Given the description of an element on the screen output the (x, y) to click on. 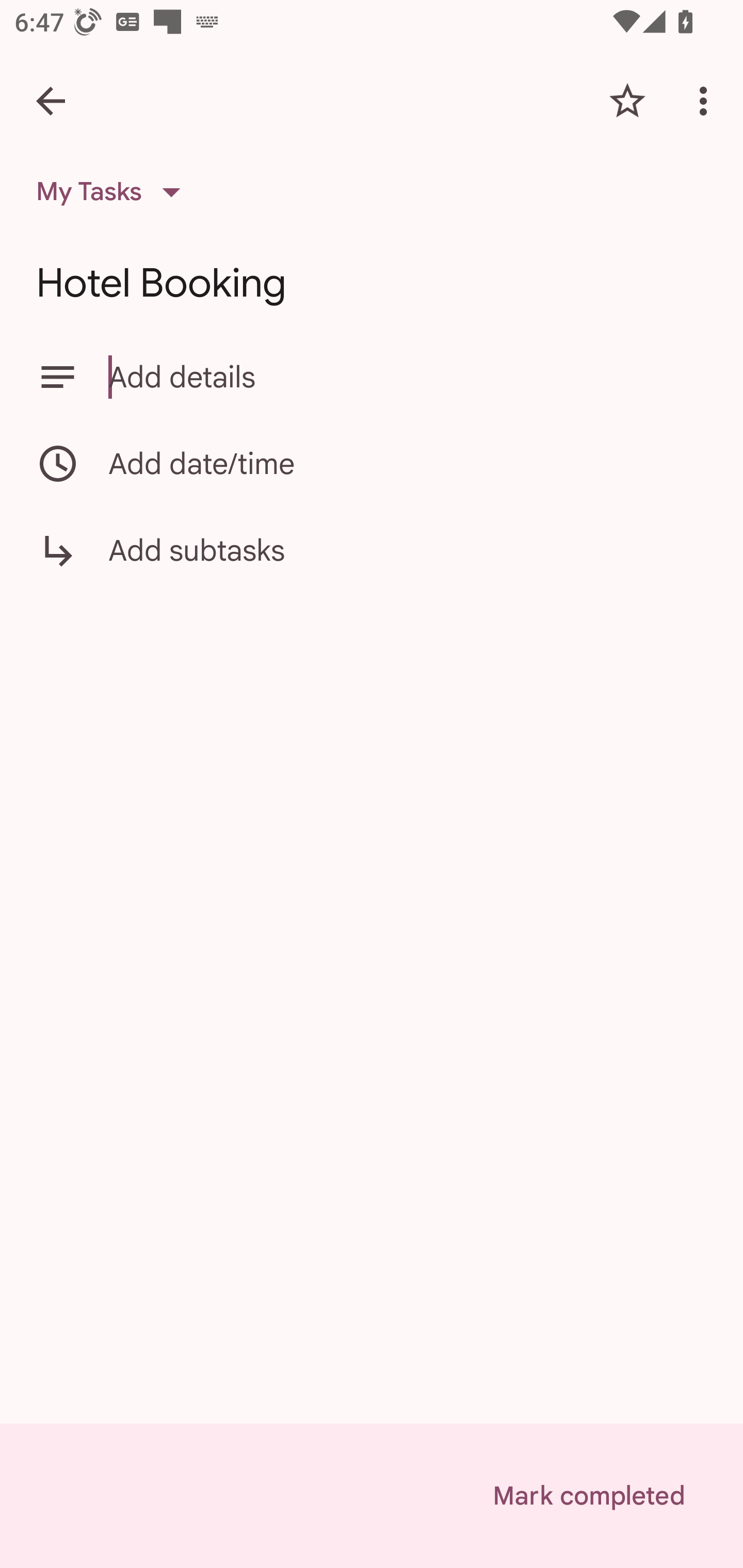
Back (50, 101)
Add star (626, 101)
More options (706, 101)
My Tasks List, My Tasks selected, 1 of 5 (114, 191)
Hotel Booking (371, 283)
Add details (371, 376)
Add details (407, 376)
Add date/time (371, 463)
Add subtasks (371, 564)
Mark completed (588, 1495)
